Given the description of an element on the screen output the (x, y) to click on. 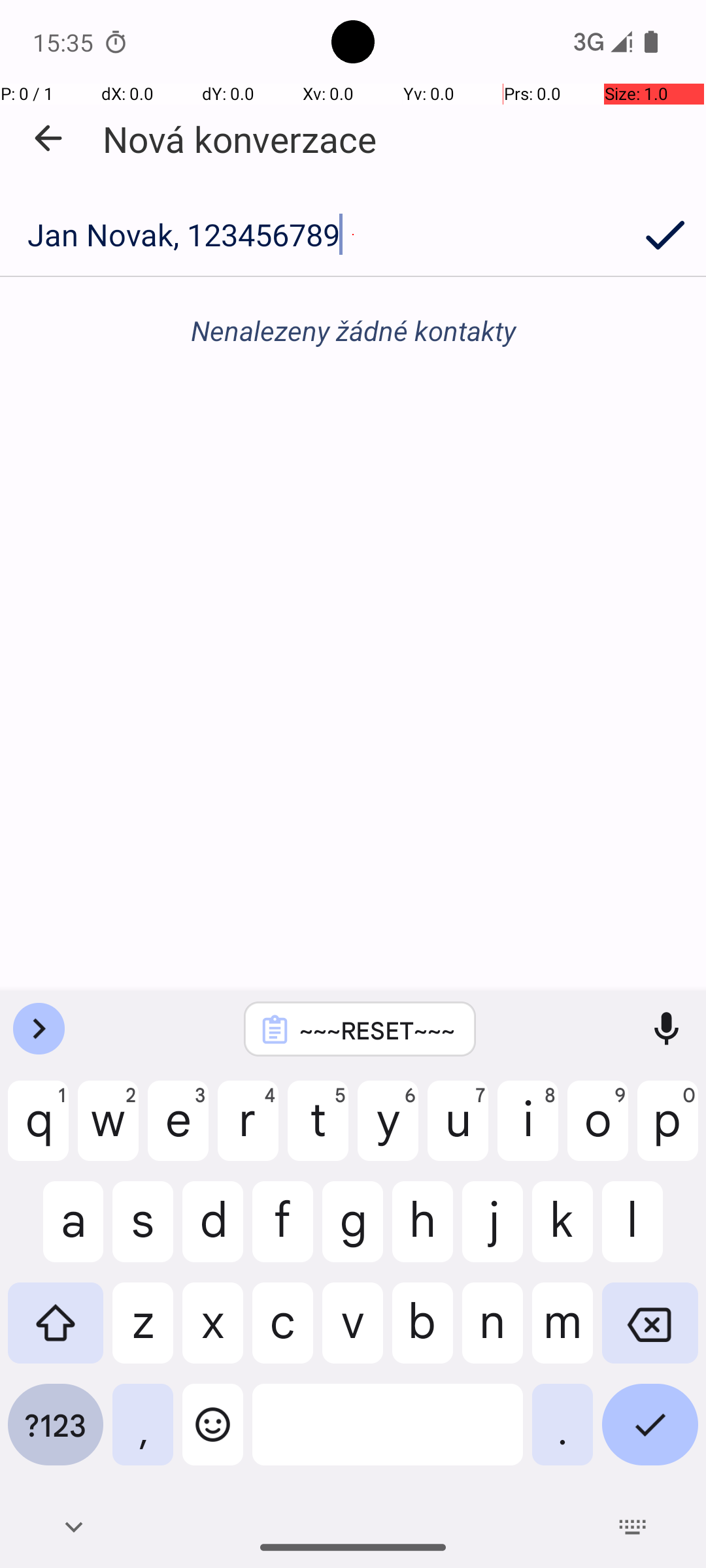
Nová konverzace Element type: android.widget.TextView (239, 138)
Jan Novak, 123456789 Element type: android.widget.EditText (311, 234)
Nenalezeny žádné kontakty Element type: android.widget.TextView (353, 329)
